Given the description of an element on the screen output the (x, y) to click on. 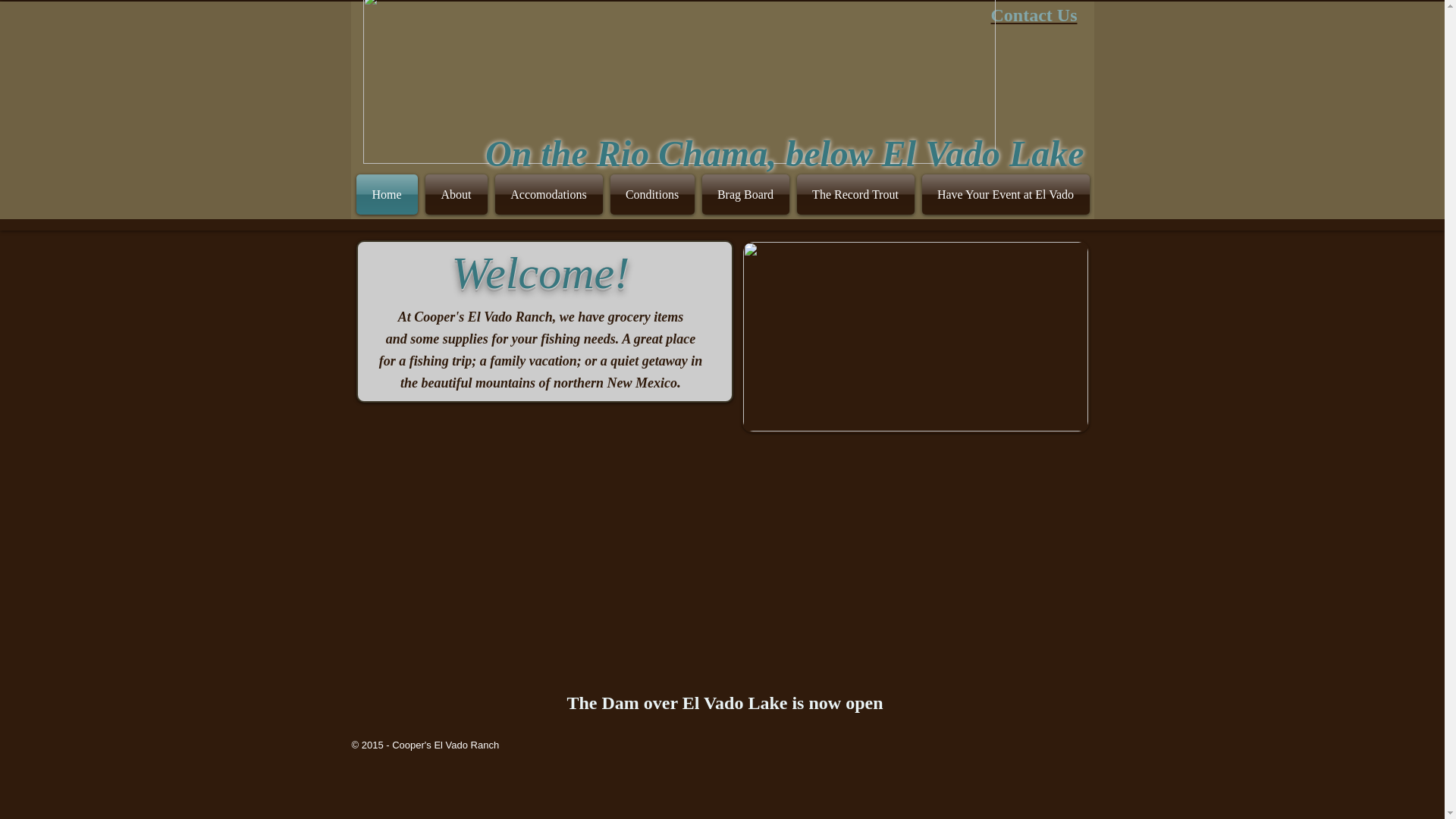
Nick Pena's Fish.jpg (915, 336)
Brag Board (745, 91)
Contact Us (1033, 14)
Conditions (652, 194)
Have Your Event at El Vado (1006, 91)
The Record Trout (855, 194)
Conditions (651, 91)
Accomodations (549, 194)
The Record Trout (857, 91)
Home (389, 194)
